Given the description of an element on the screen output the (x, y) to click on. 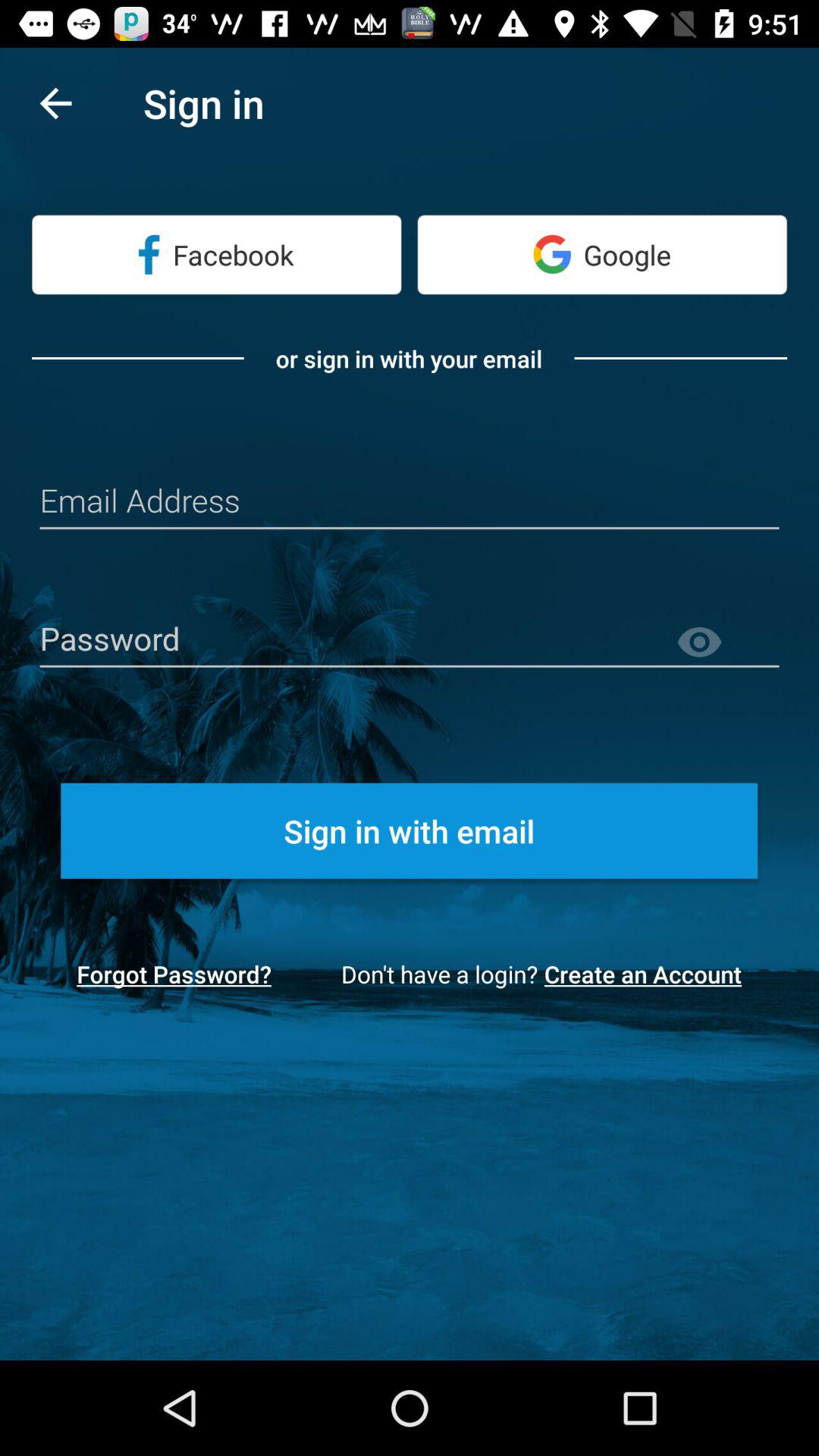
open the forgot password? item (173, 974)
